Given the description of an element on the screen output the (x, y) to click on. 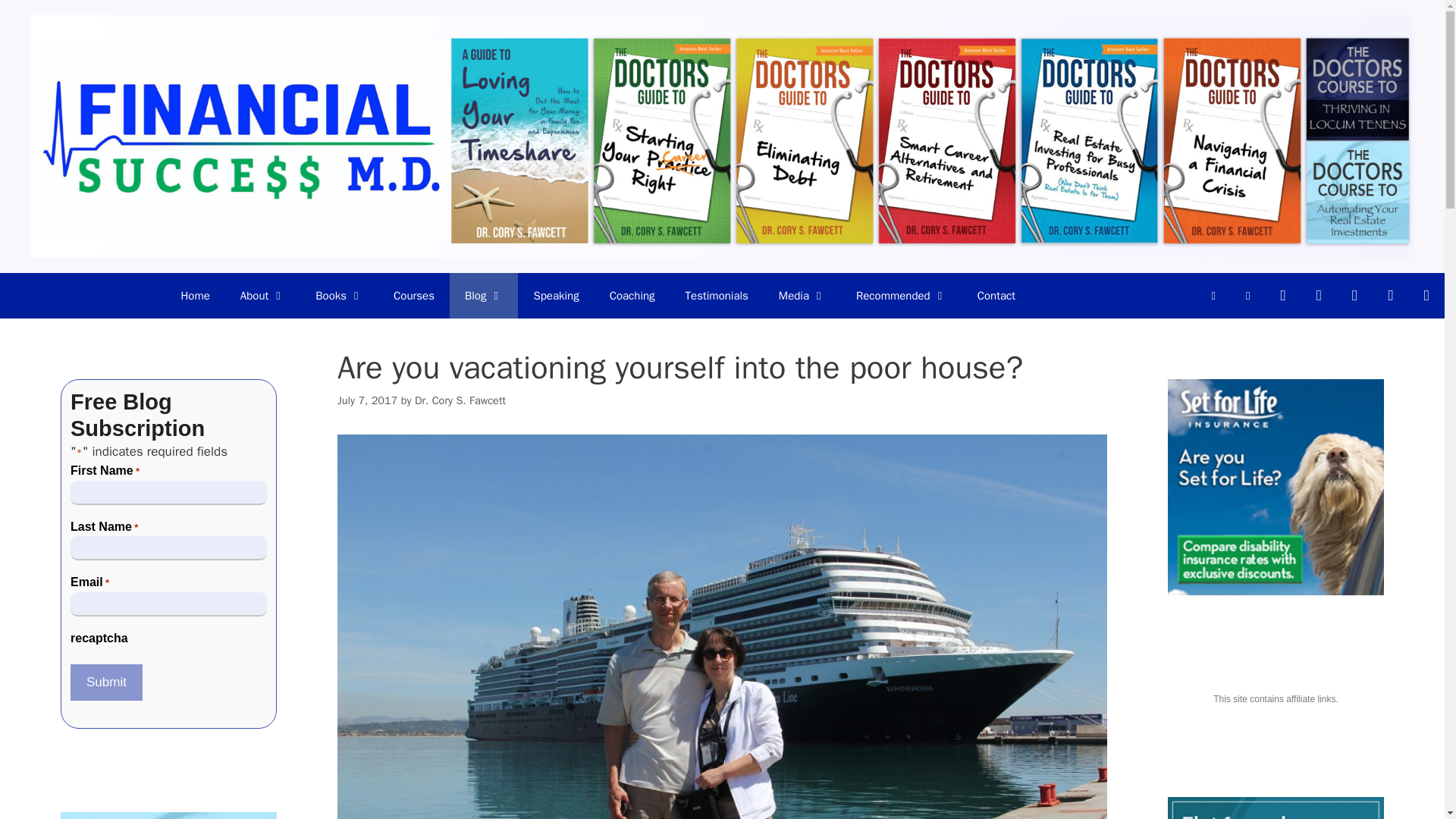
About (262, 295)
Testimonials (715, 295)
Courses (413, 295)
Media (801, 295)
Home (194, 295)
Coaching (631, 295)
Recommended (901, 295)
Books (338, 295)
Blog (483, 295)
Submit (105, 682)
Speaking (556, 295)
View all posts by Dr. Cory S. Fawcett (459, 400)
Contact (996, 295)
